Given the description of an element on the screen output the (x, y) to click on. 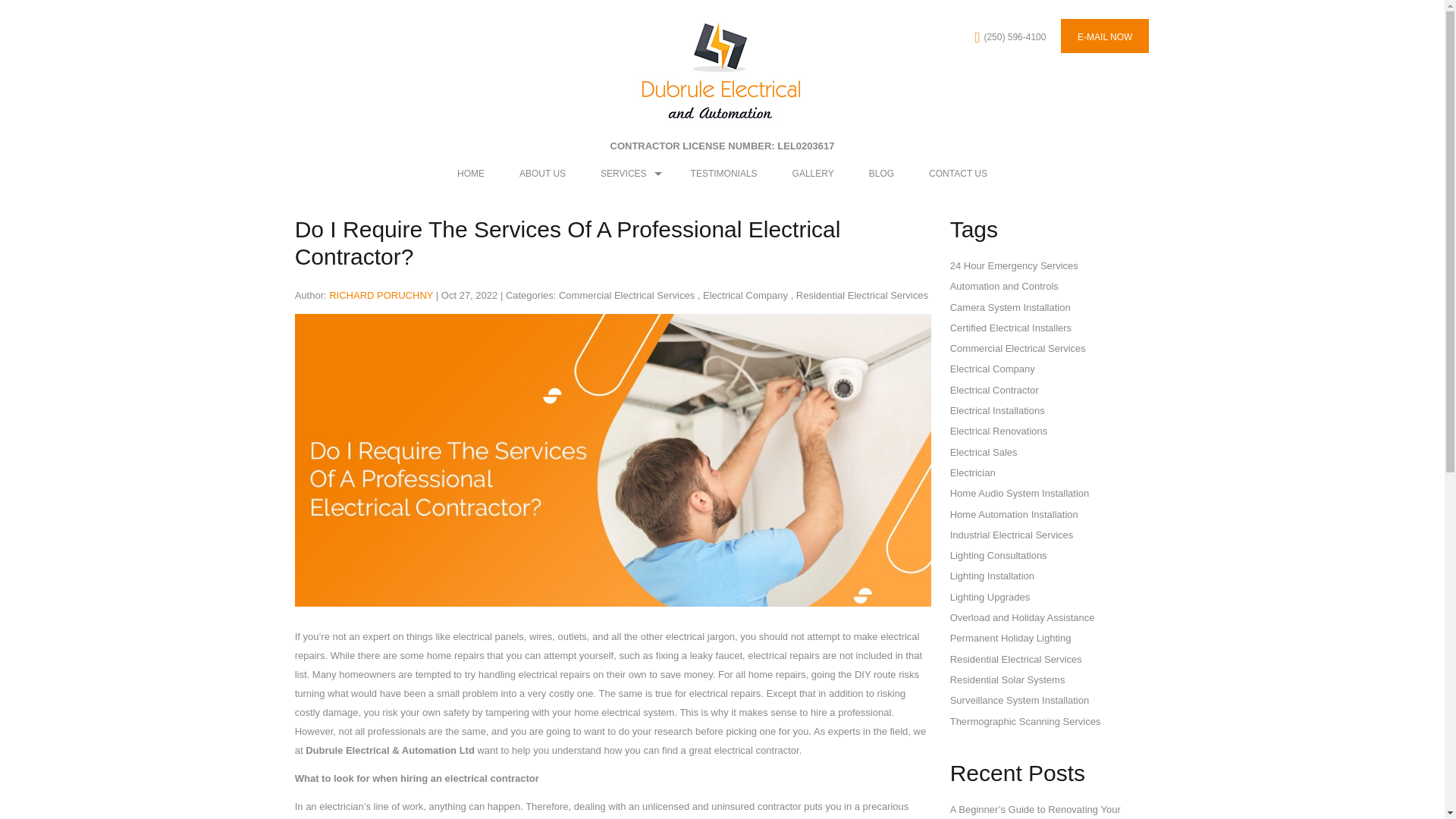
TESTIMONIALS (723, 173)
Electrical Company (745, 295)
Automation and Controls (1004, 285)
BLOG (881, 173)
Commercial Electrical Services (1018, 348)
Certified Electrical Installers (1010, 327)
Camera System Installation (1010, 307)
Commercial Electrical Services (626, 295)
SERVICES (627, 173)
GALLERY (812, 173)
Residential Electrical Services (862, 295)
HOME (470, 173)
24 Hour Emergency Services (1014, 265)
E-MAIL NOW (1104, 36)
CONTACT US (957, 173)
